Given the description of an element on the screen output the (x, y) to click on. 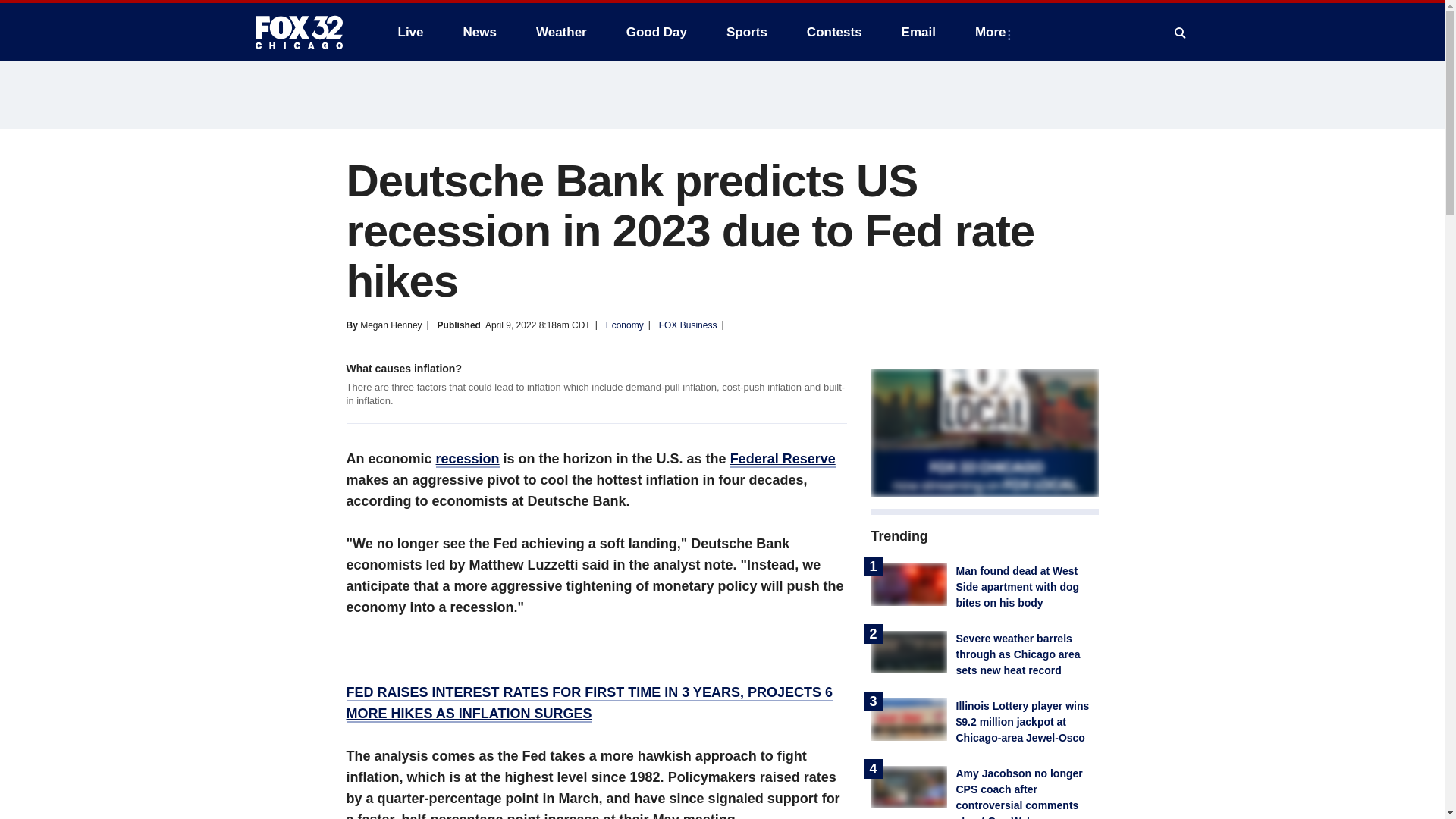
More (993, 32)
Contests (834, 32)
Live (410, 32)
Weather (561, 32)
Sports (746, 32)
Email (918, 32)
Good Day (656, 32)
News (479, 32)
